Given the description of an element on the screen output the (x, y) to click on. 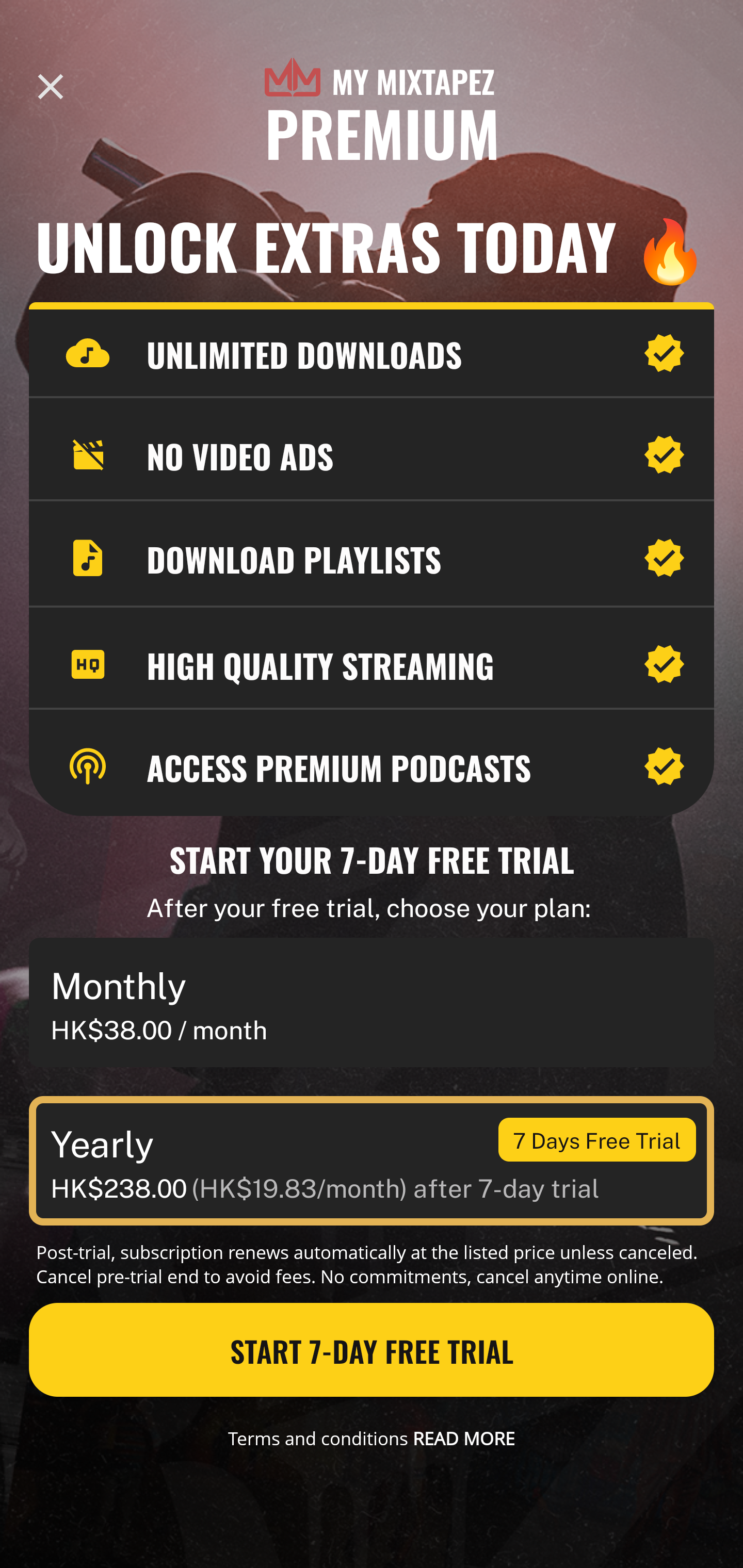
Description (50, 86)
Monthly HK$38.00 / month (371, 1002)
START 7-DAY FREE TRIAL (371, 1350)
Terms and conditions READ MORE (371, 1437)
